Given the description of an element on the screen output the (x, y) to click on. 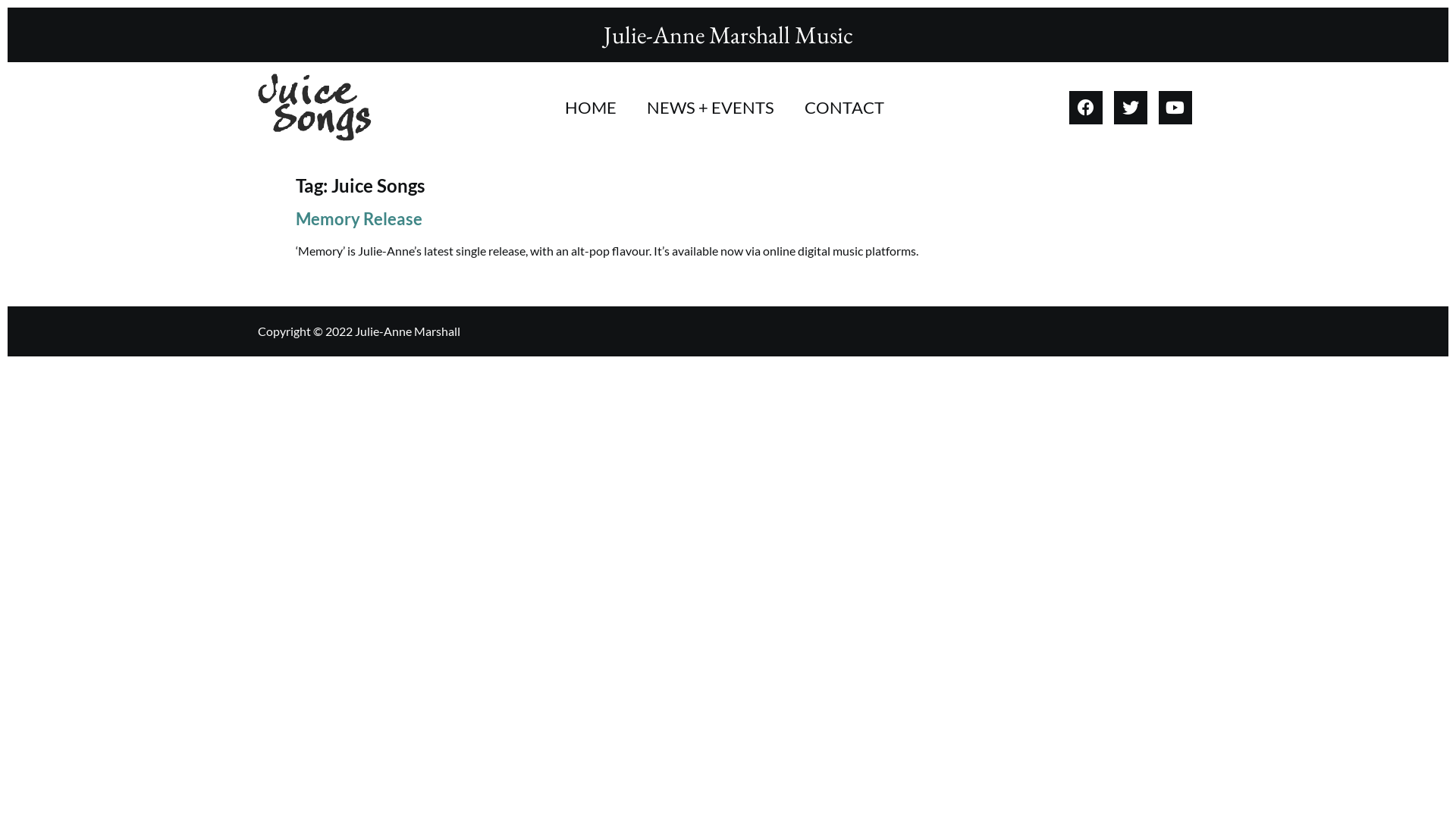
Memory Release Element type: text (358, 218)
NEWS + EVENTS Element type: text (710, 107)
HOME Element type: text (590, 107)
CONTACT Element type: text (844, 107)
